Given the description of an element on the screen output the (x, y) to click on. 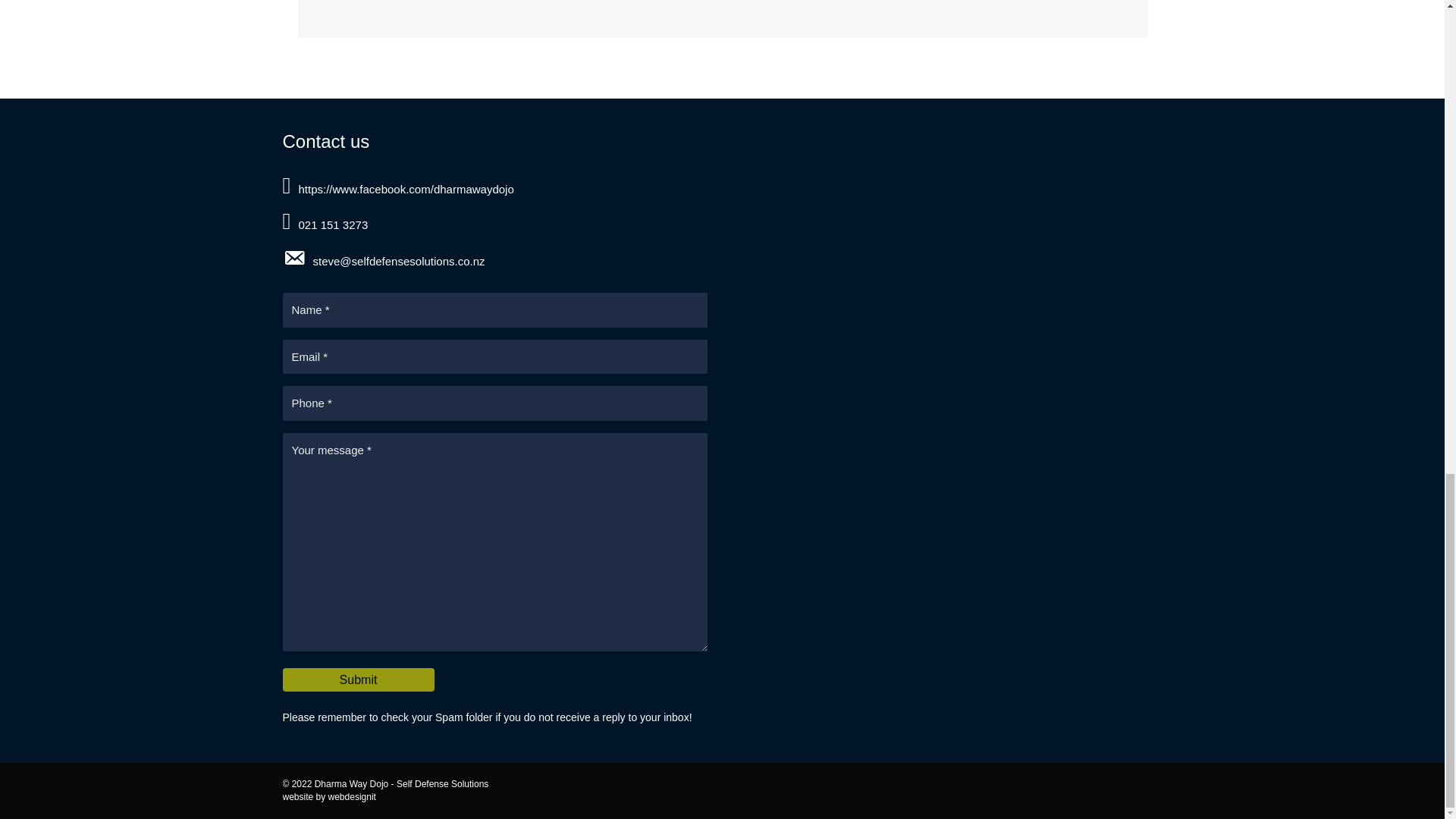
website by webdesignit (328, 796)
Submit (357, 679)
Submit (357, 679)
021 151 3273 (721, 223)
